Given the description of an element on the screen output the (x, y) to click on. 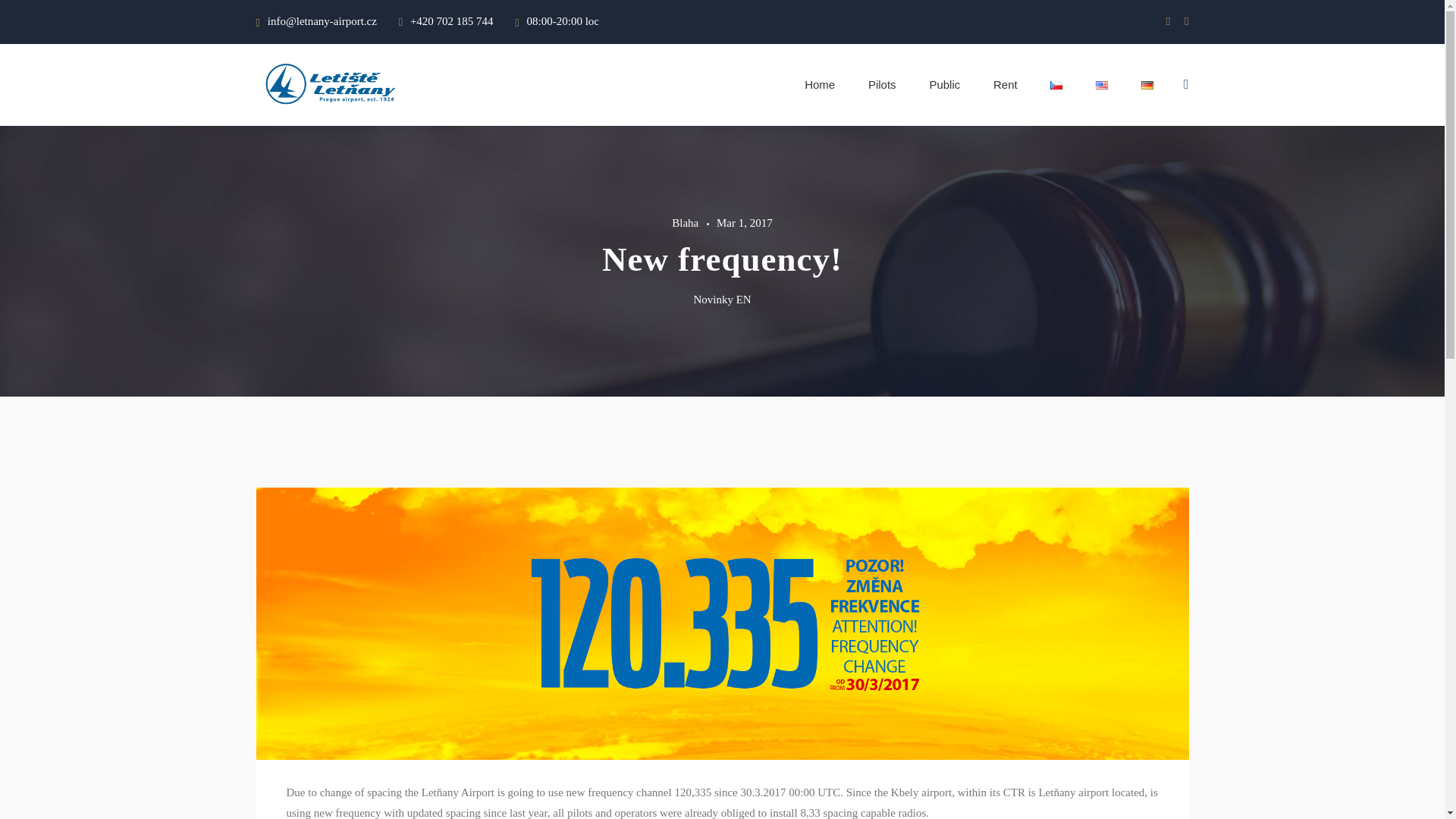
Home (819, 84)
Rent (1005, 84)
Pilots (882, 84)
Public (944, 84)
